Given the description of an element on the screen output the (x, y) to click on. 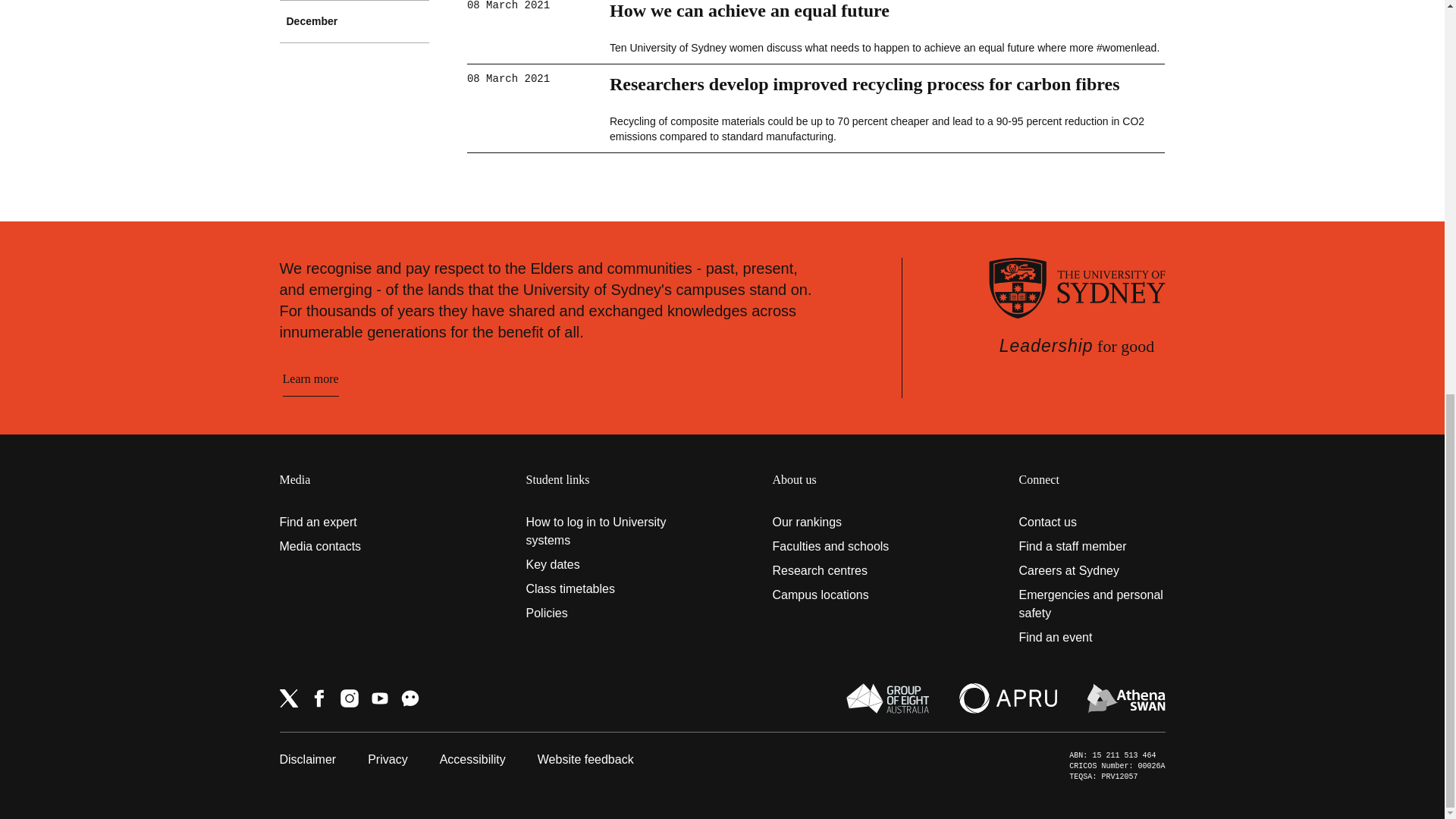
Media contacts (352, 546)
wechat (409, 698)
Class timetables (598, 588)
Learn more (309, 379)
December (354, 21)
How to log in to University systems (598, 531)
Find an expert (352, 522)
instagram (348, 698)
Key dates (598, 565)
